Given the description of an element on the screen output the (x, y) to click on. 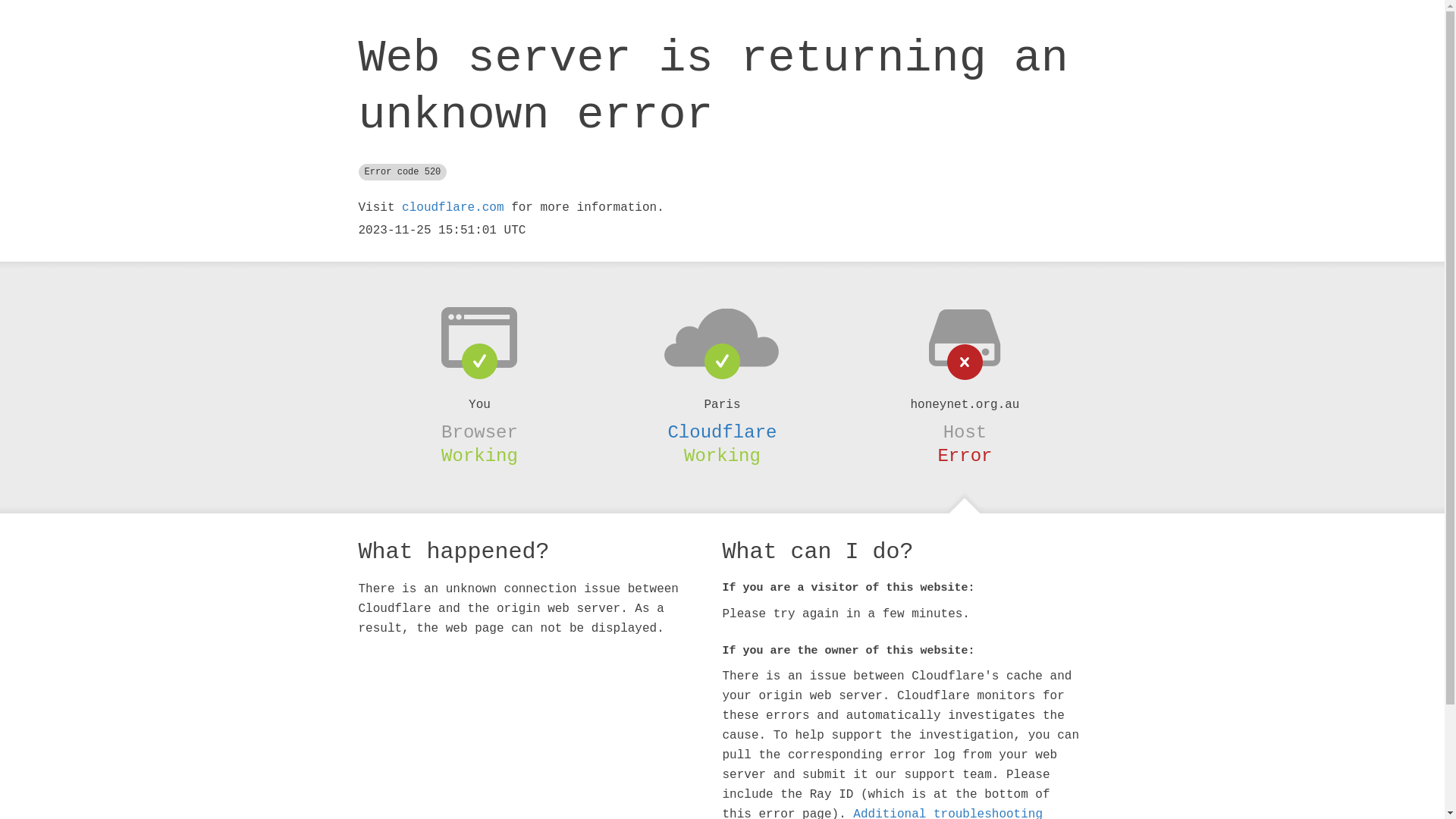
cloudflare.com Element type: text (452, 207)
Cloudflare Element type: text (721, 432)
